Given the description of an element on the screen output the (x, y) to click on. 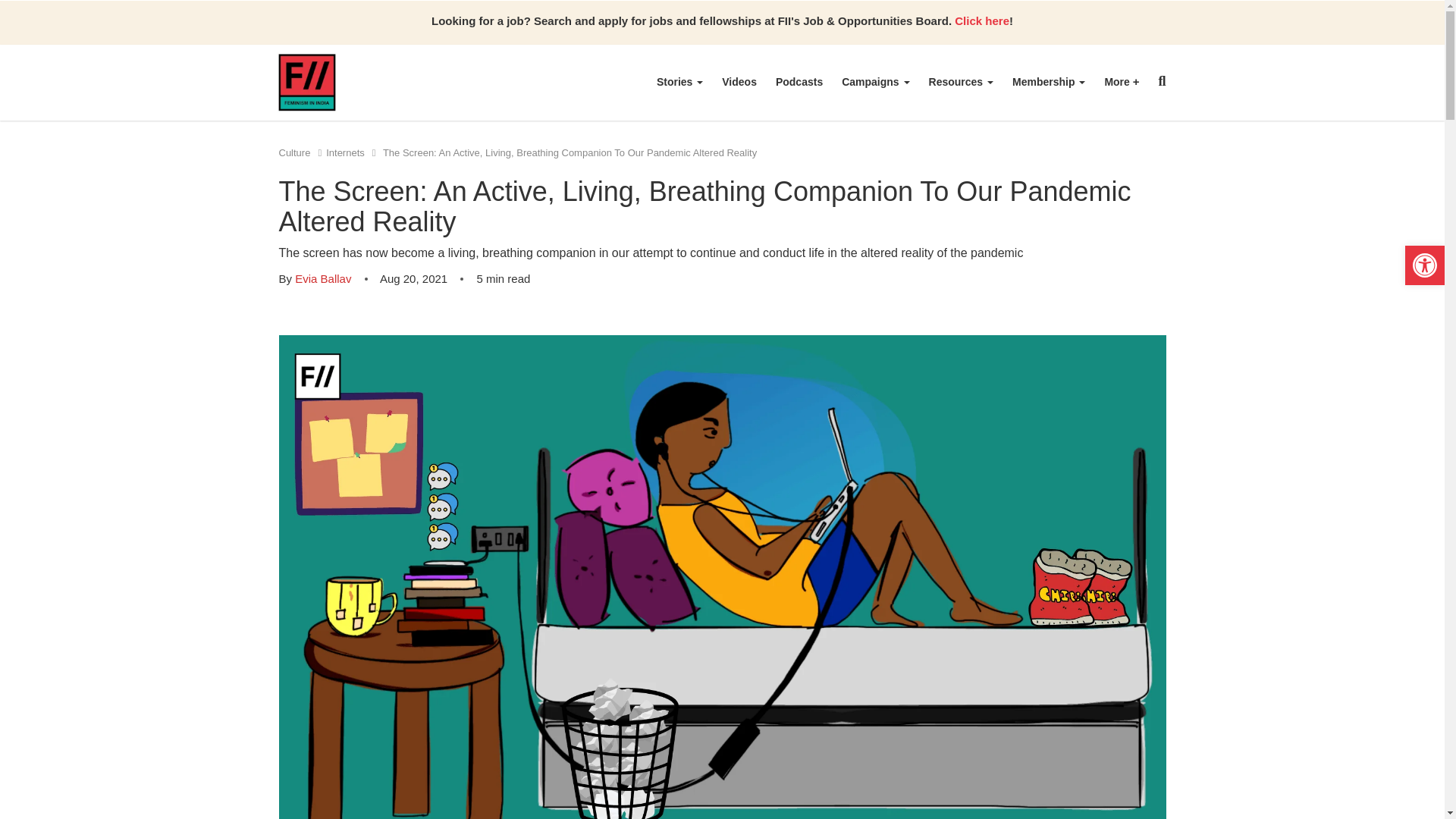
Accessibility Tools (1424, 265)
